Given the description of an element on the screen output the (x, y) to click on. 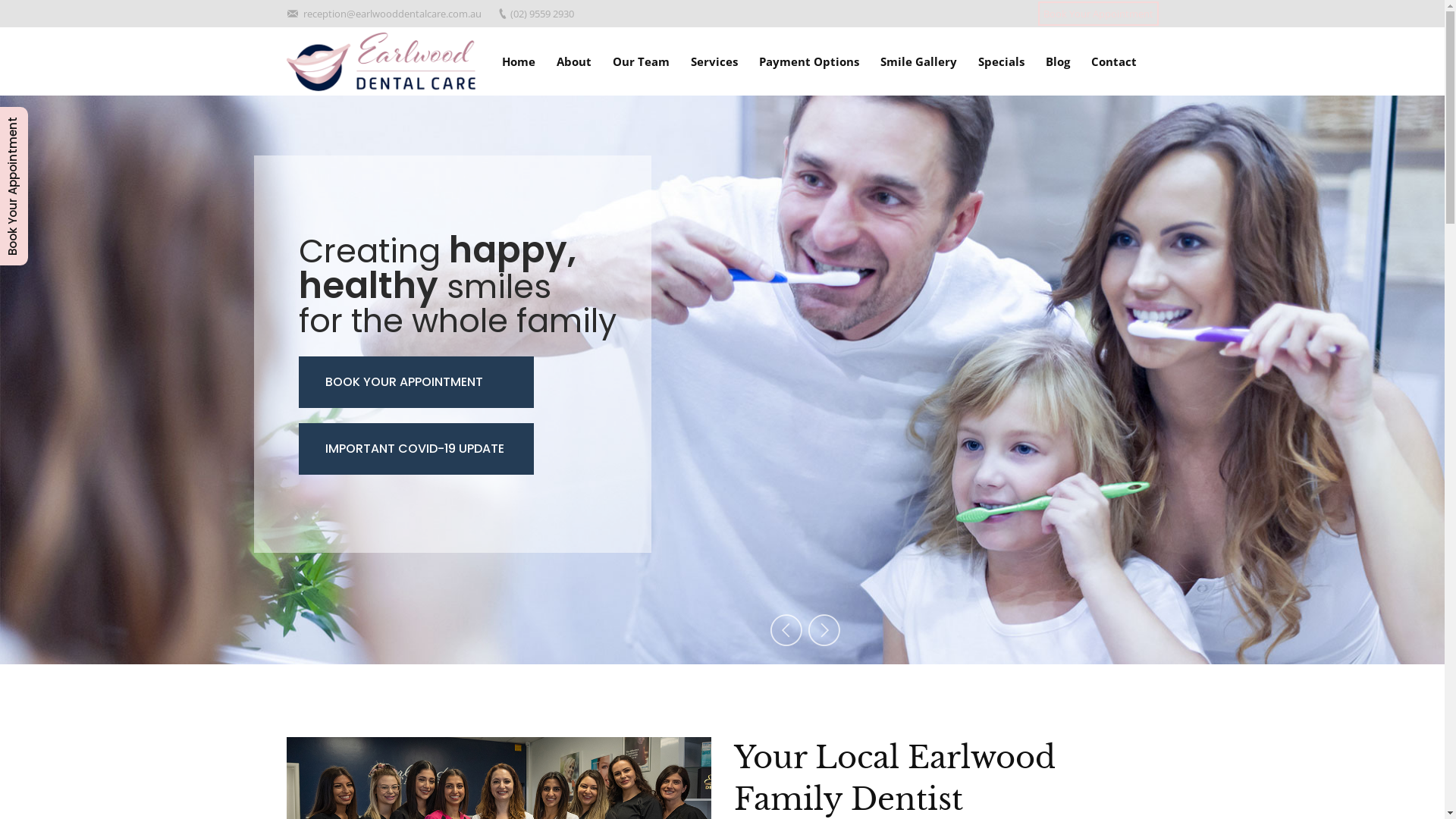
reception@earlwooddentalcare.com.au Element type: text (392, 12)
Blog Element type: text (1056, 61)
Our Team Element type: text (640, 61)
Services Element type: text (713, 61)
Contact Element type: text (1112, 61)
Book Your Appointment Element type: text (1097, 13)
Smile Gallery Element type: text (917, 61)
Specials Element type: text (1001, 61)
Home Element type: text (518, 61)
About Element type: text (573, 61)
(02) 9559 2930 Element type: text (541, 12)
Payment Options Element type: text (808, 61)
